Given the description of an element on the screen output the (x, y) to click on. 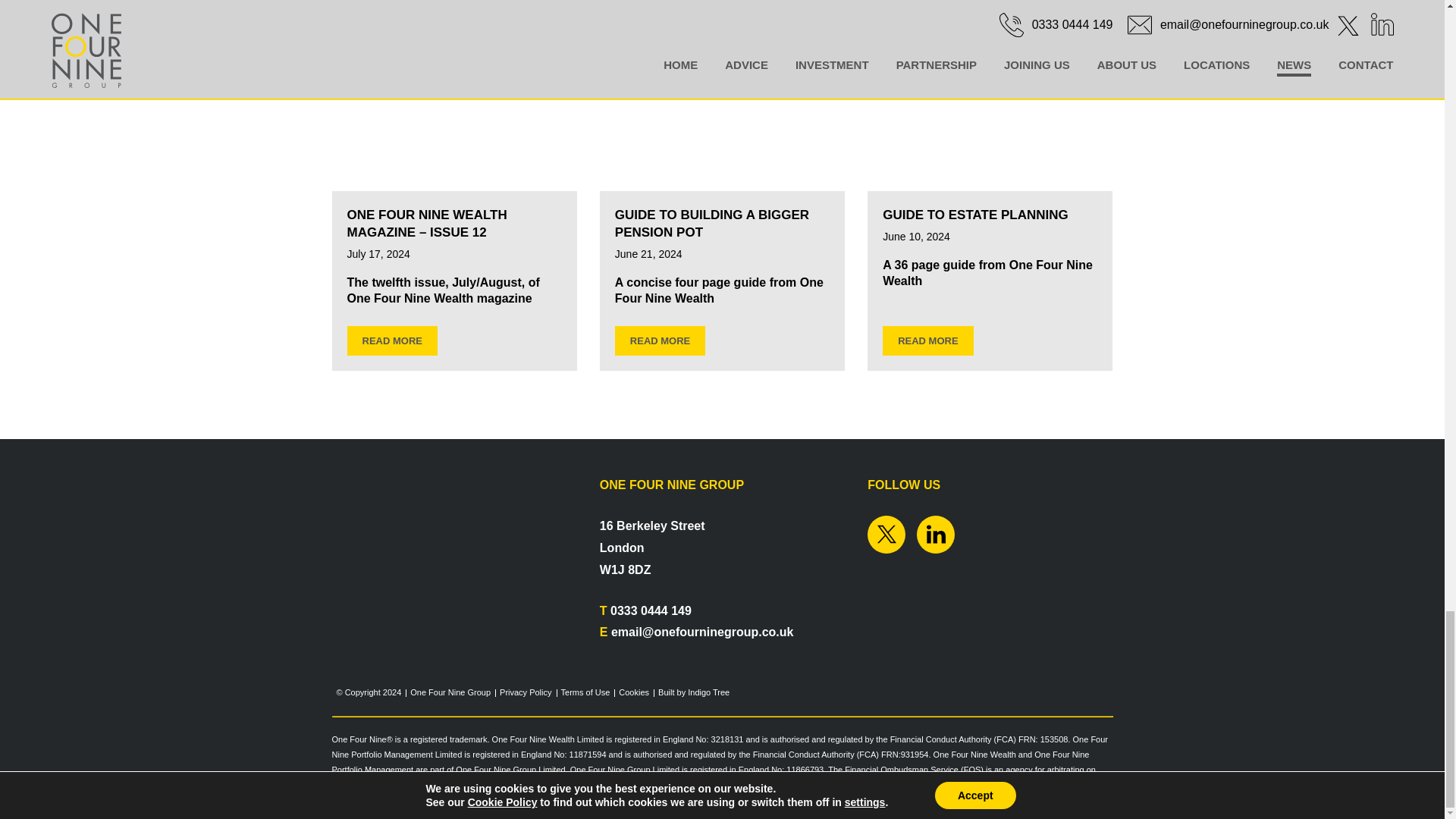
Linkedin (936, 534)
Twitter (886, 534)
